Given the description of an element on the screen output the (x, y) to click on. 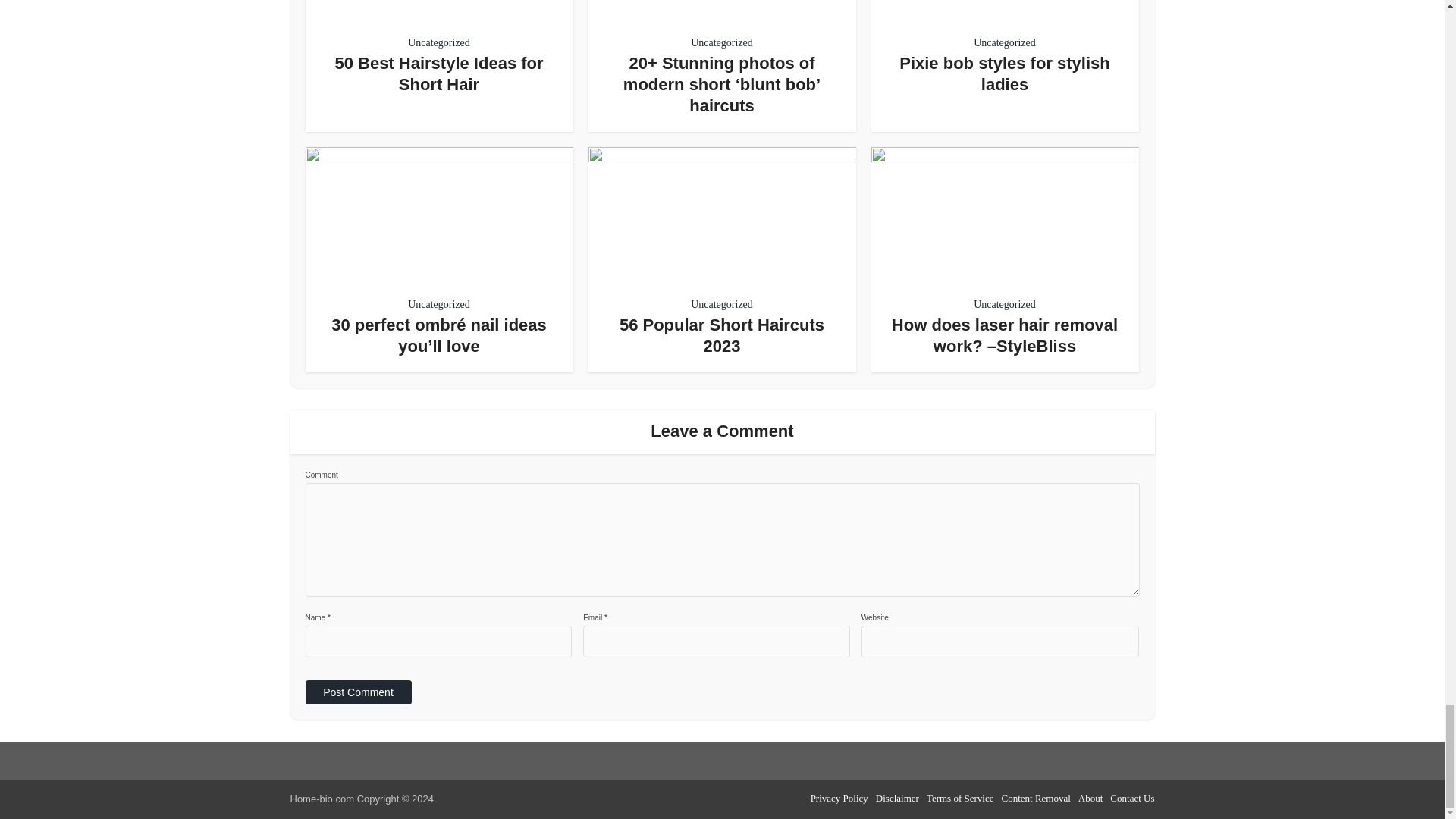
Terms of Service (960, 797)
Uncategorized (721, 43)
50 Best Hairstyle Ideas for Short Hair (438, 74)
Post Comment (357, 692)
Content Removal (1035, 797)
Privacy Policy (838, 797)
Uncategorized (438, 43)
50 Best Hairstyle Ideas for Short Hair (438, 74)
Uncategorized (721, 304)
Uncategorized (1004, 304)
